Given the description of an element on the screen output the (x, y) to click on. 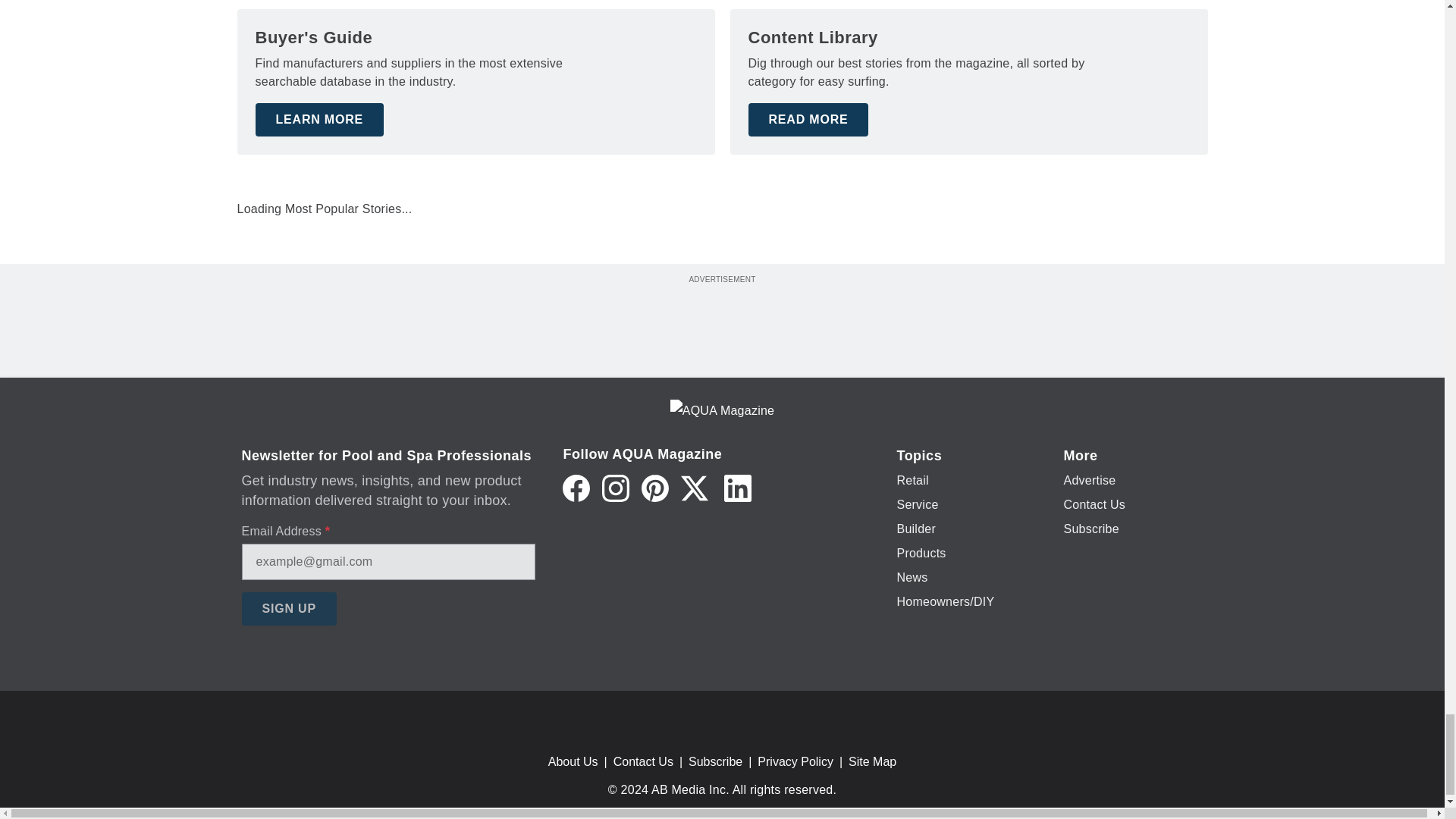
Twitter X icon (694, 488)
Instagram icon (615, 488)
Facebook icon (575, 488)
LinkedIn icon (737, 488)
Pinterest icon (655, 488)
